Given the description of an element on the screen output the (x, y) to click on. 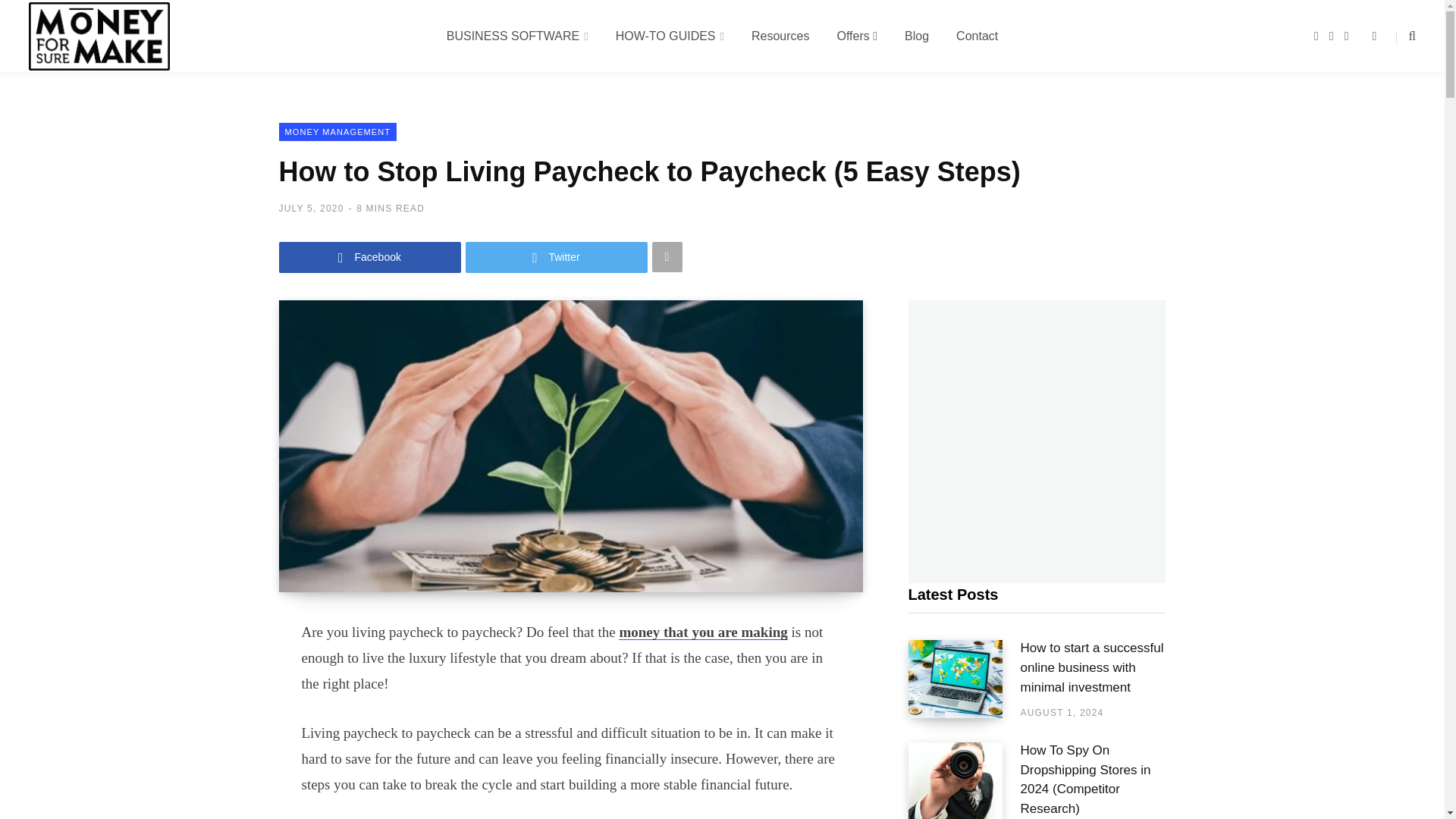
Contact (976, 36)
JULY 5, 2020 (311, 208)
Twitter (556, 256)
MakeMoneyForSure (99, 36)
Resources (780, 36)
Facebook (370, 256)
Twitter (556, 256)
Facebook (370, 256)
MONEY MANAGEMENT (338, 131)
HOW-TO GUIDES (670, 36)
